Given the description of an element on the screen output the (x, y) to click on. 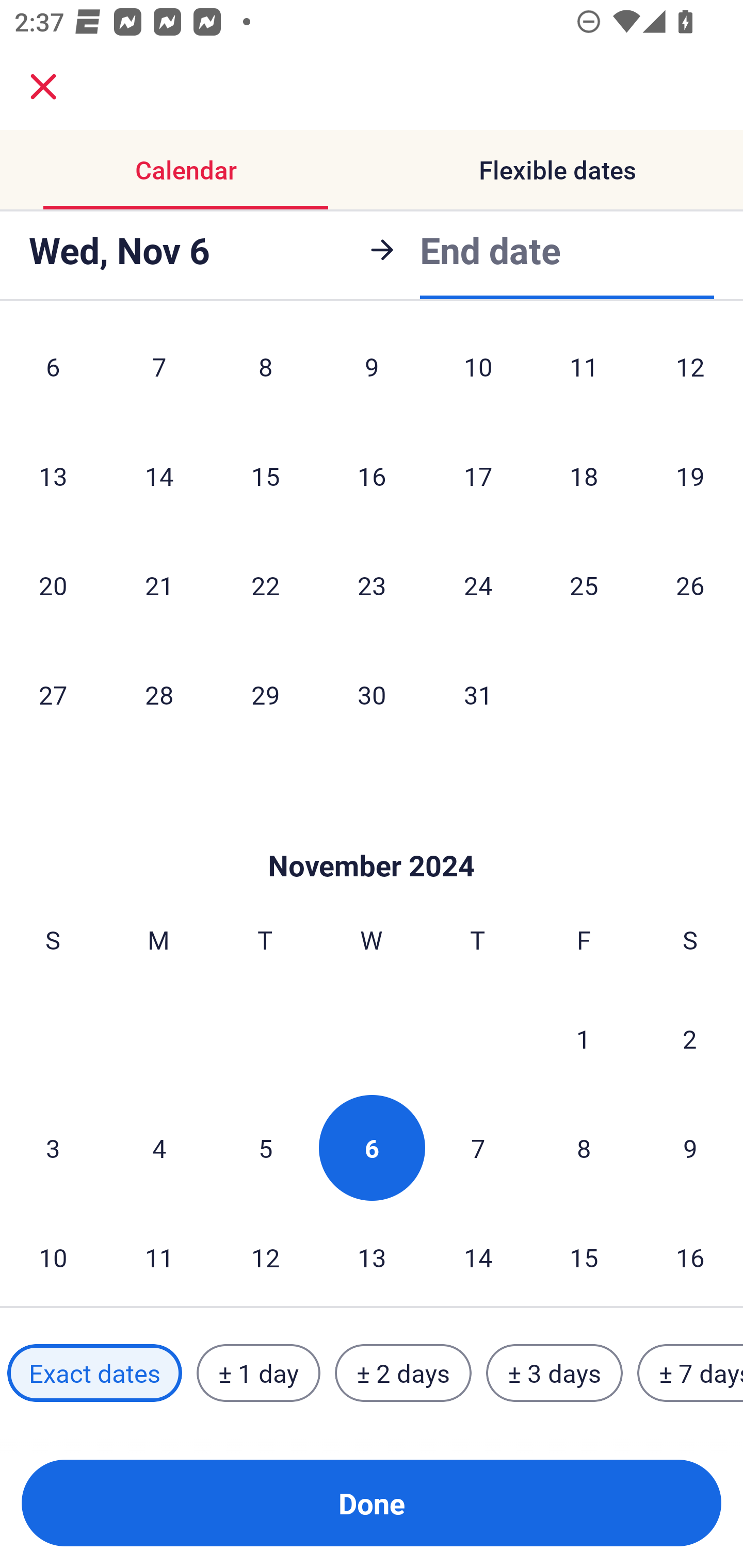
close. (43, 86)
Flexible dates (557, 170)
End date (489, 249)
6 Sunday, October 6, 2024 (53, 374)
7 Monday, October 7, 2024 (159, 374)
8 Tuesday, October 8, 2024 (265, 374)
9 Wednesday, October 9, 2024 (371, 374)
10 Thursday, October 10, 2024 (477, 374)
11 Friday, October 11, 2024 (584, 374)
12 Saturday, October 12, 2024 (690, 374)
13 Sunday, October 13, 2024 (53, 475)
14 Monday, October 14, 2024 (159, 475)
15 Tuesday, October 15, 2024 (265, 475)
16 Wednesday, October 16, 2024 (371, 475)
17 Thursday, October 17, 2024 (477, 475)
18 Friday, October 18, 2024 (584, 475)
19 Saturday, October 19, 2024 (690, 475)
20 Sunday, October 20, 2024 (53, 584)
21 Monday, October 21, 2024 (159, 584)
22 Tuesday, October 22, 2024 (265, 584)
23 Wednesday, October 23, 2024 (371, 584)
24 Thursday, October 24, 2024 (477, 584)
25 Friday, October 25, 2024 (584, 584)
26 Saturday, October 26, 2024 (690, 584)
27 Sunday, October 27, 2024 (53, 694)
28 Monday, October 28, 2024 (159, 694)
29 Tuesday, October 29, 2024 (265, 694)
30 Wednesday, October 30, 2024 (371, 694)
31 Thursday, October 31, 2024 (477, 694)
Skip to Done (371, 834)
1 Friday, November 1, 2024 (583, 1038)
2 Saturday, November 2, 2024 (689, 1038)
3 Sunday, November 3, 2024 (53, 1147)
4 Monday, November 4, 2024 (159, 1147)
5 Tuesday, November 5, 2024 (265, 1147)
7 Thursday, November 7, 2024 (477, 1147)
8 Friday, November 8, 2024 (584, 1147)
9 Saturday, November 9, 2024 (690, 1147)
10 Sunday, November 10, 2024 (53, 1255)
11 Monday, November 11, 2024 (159, 1255)
12 Tuesday, November 12, 2024 (265, 1255)
13 Wednesday, November 13, 2024 (371, 1255)
14 Thursday, November 14, 2024 (477, 1255)
15 Friday, November 15, 2024 (584, 1255)
16 Saturday, November 16, 2024 (690, 1255)
Exact dates (94, 1372)
± 1 day (258, 1372)
± 2 days (403, 1372)
± 3 days (553, 1372)
± 7 days (690, 1372)
